Given the description of an element on the screen output the (x, y) to click on. 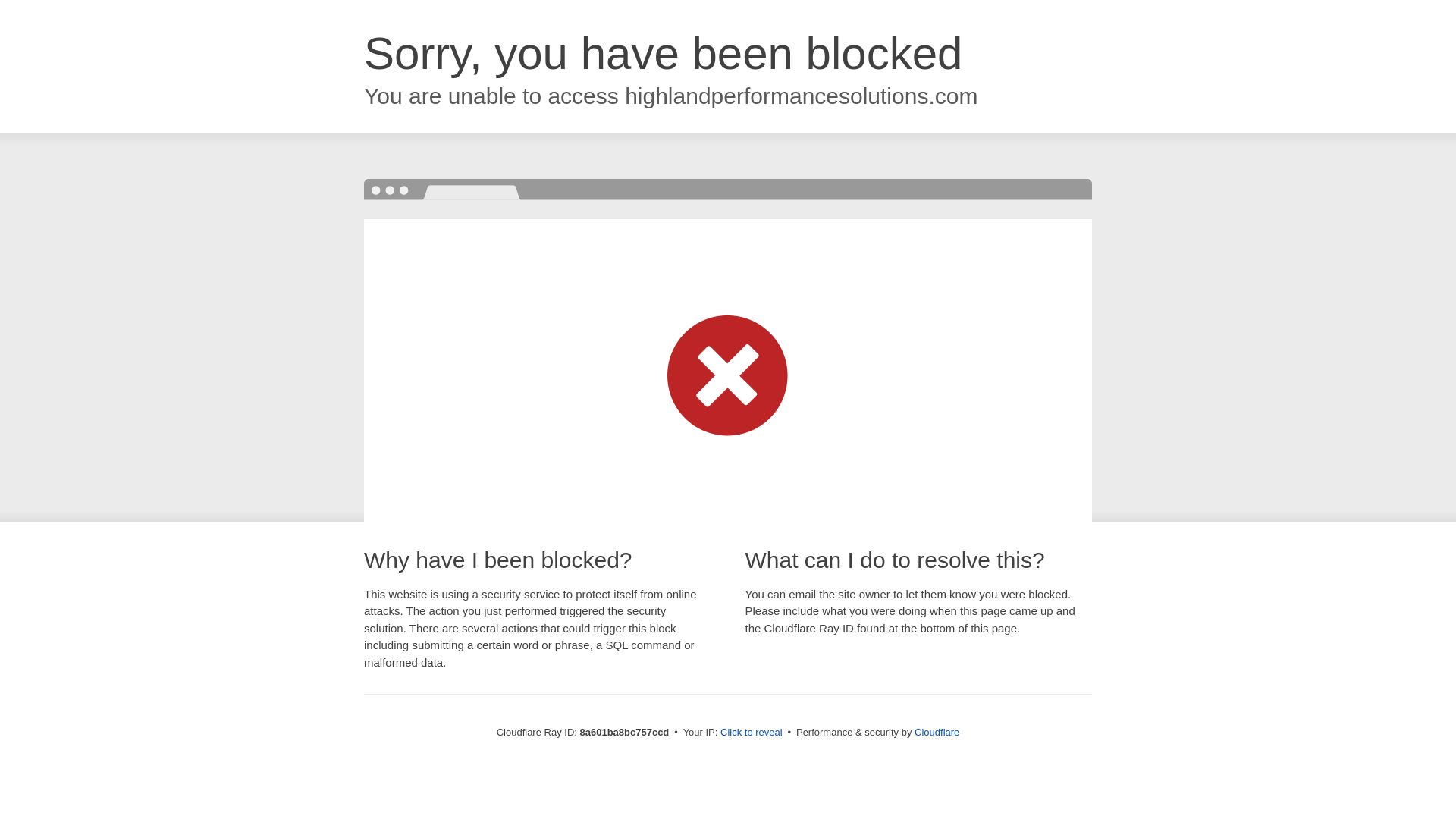
Cloudflare (936, 731)
Click to reveal (751, 732)
